Given the description of an element on the screen output the (x, y) to click on. 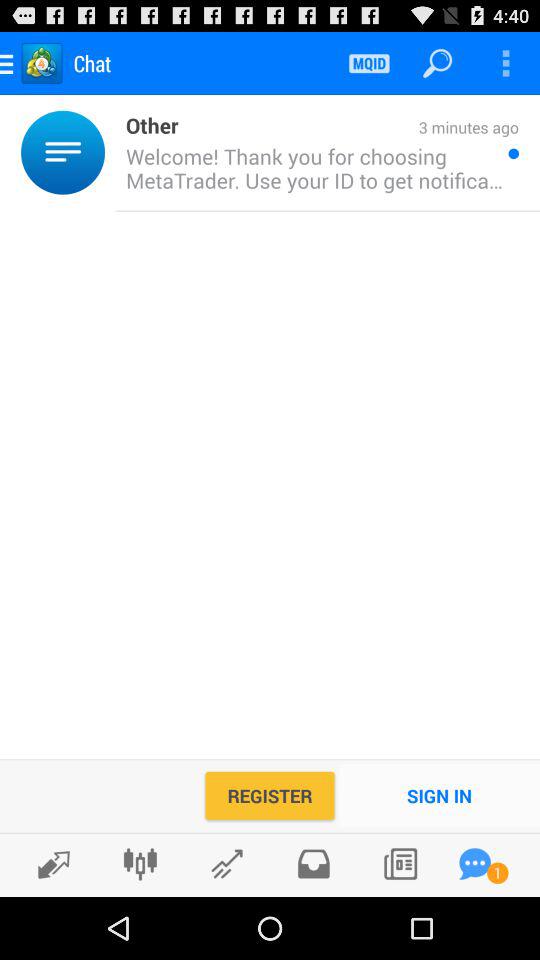
apps (475, 864)
